Given the description of an element on the screen output the (x, y) to click on. 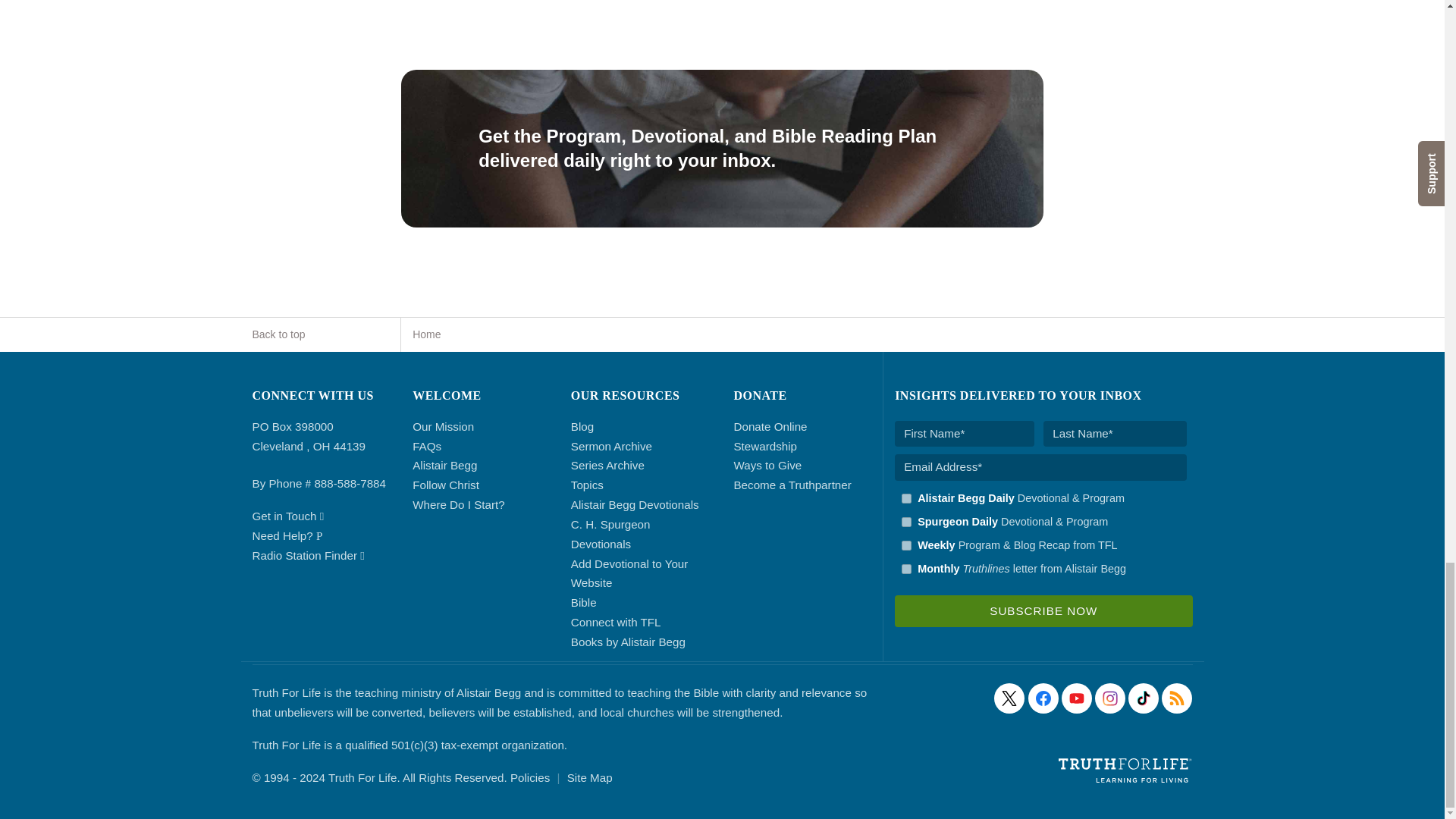
Monthly letter from Alistair Begg (906, 569)
Instagram (1109, 698)
Daily Devotional (906, 521)
TikTok (1143, 698)
Subscribe Now (1043, 611)
Twitter (1009, 698)
Facebook (1042, 698)
Weekly Recap (906, 545)
YouTube (1076, 698)
Alistair Begg Daily Devotional (906, 498)
